Given the description of an element on the screen output the (x, y) to click on. 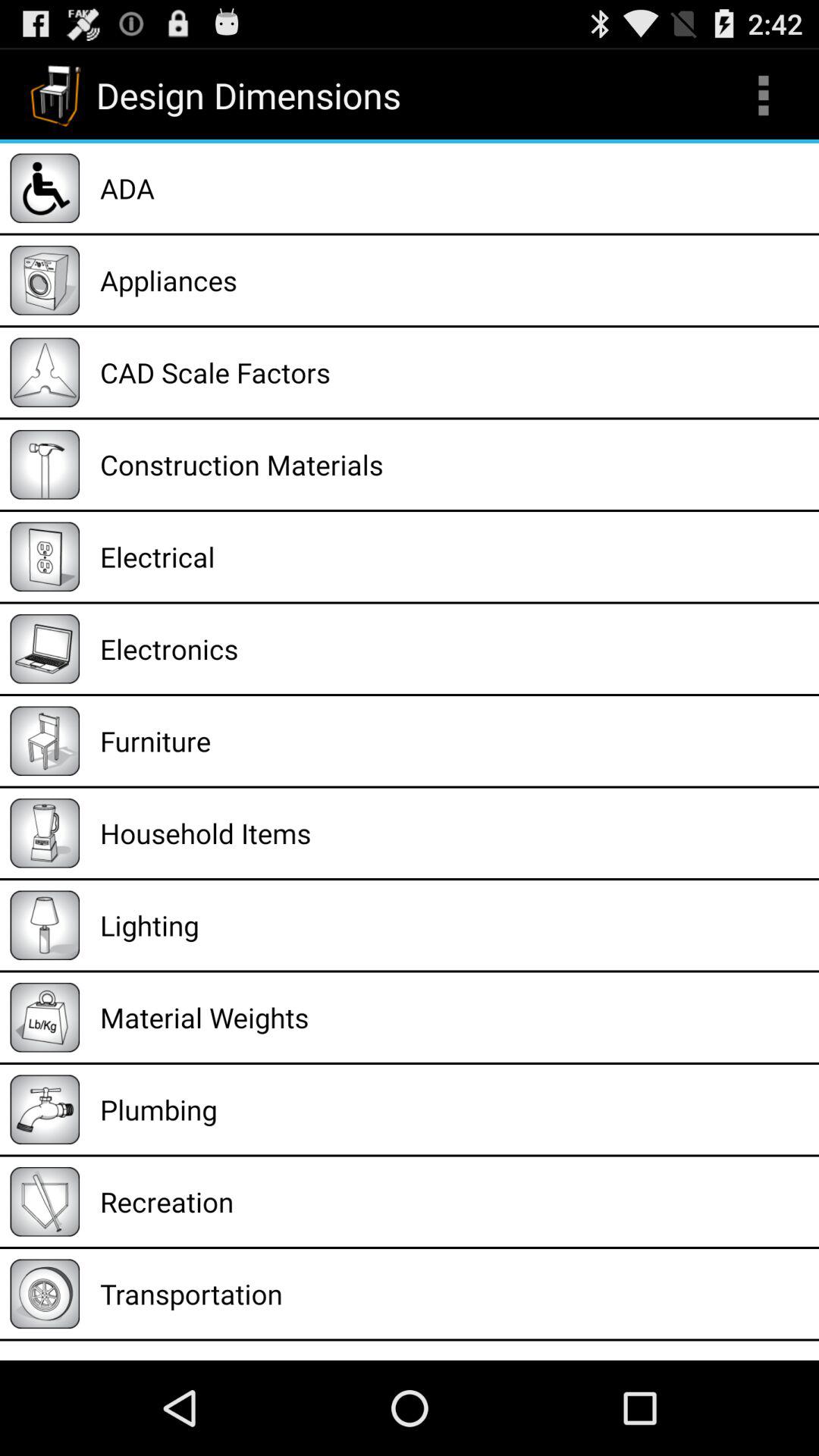
select transportation app (454, 1293)
